Given the description of an element on the screen output the (x, y) to click on. 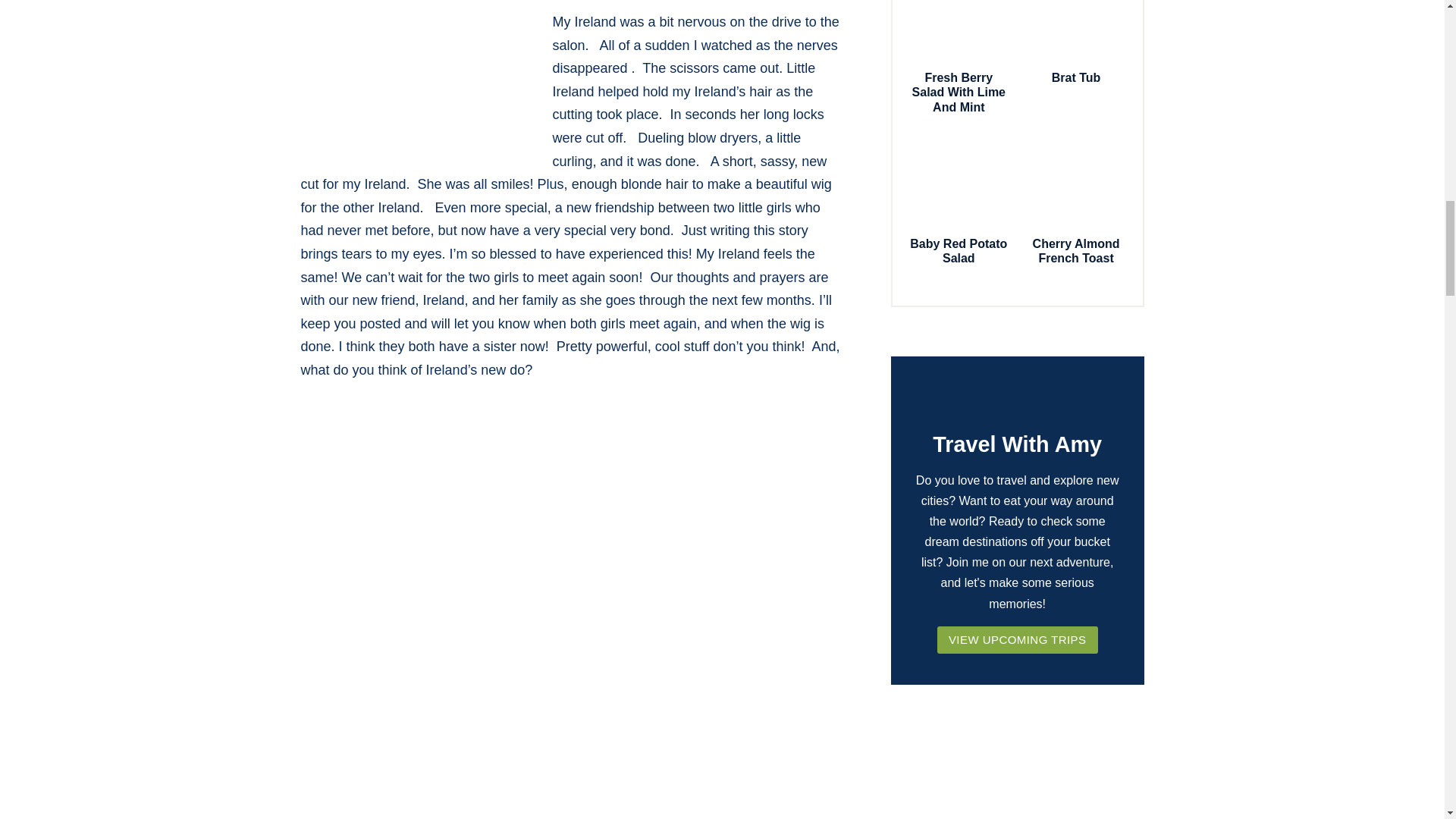
A-Haircut-Ill-Never-Forget-3 (413, 86)
